Given the description of an element on the screen output the (x, y) to click on. 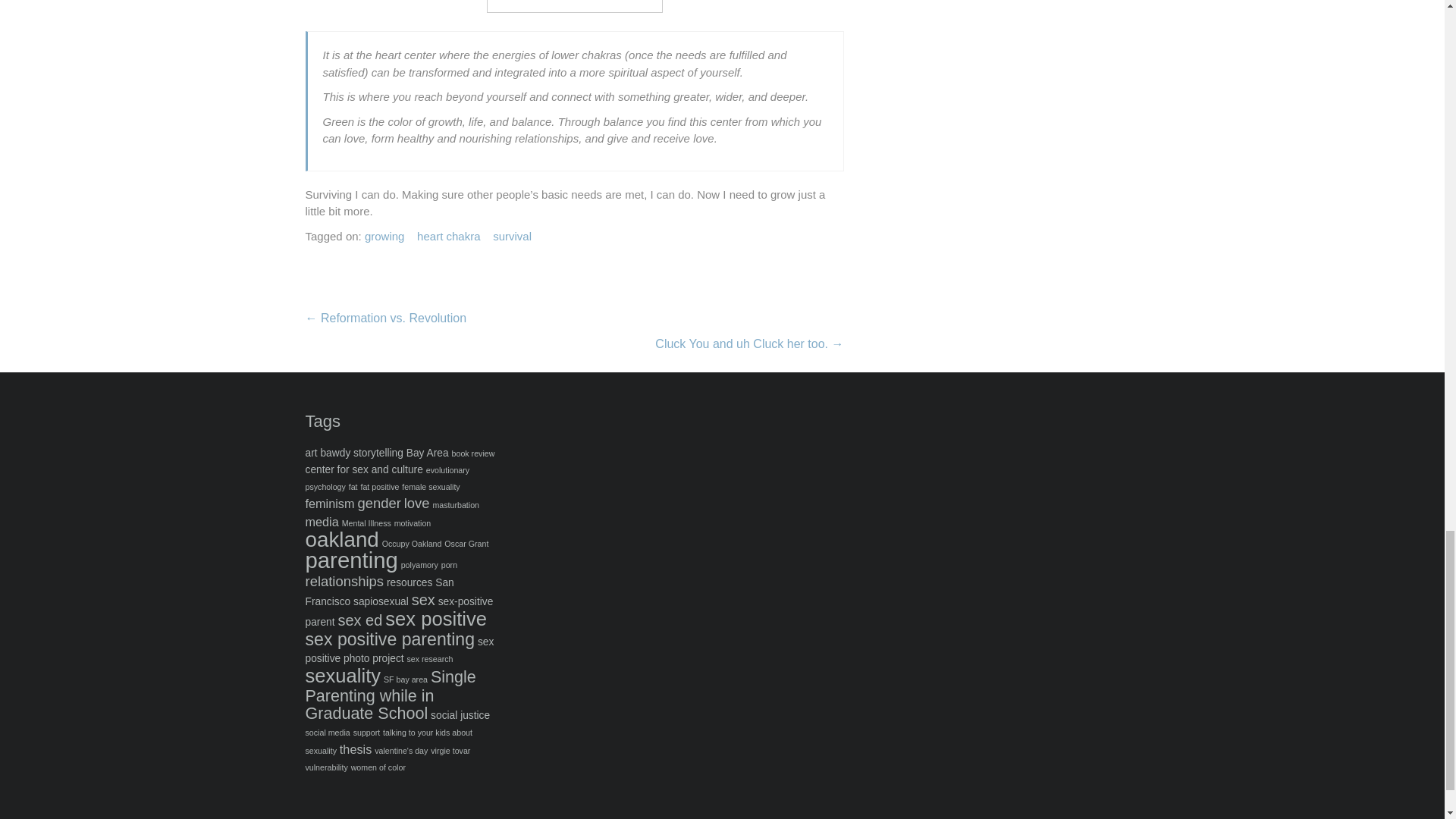
survival (512, 236)
growing (384, 236)
heart chakra (448, 236)
